Given the description of an element on the screen output the (x, y) to click on. 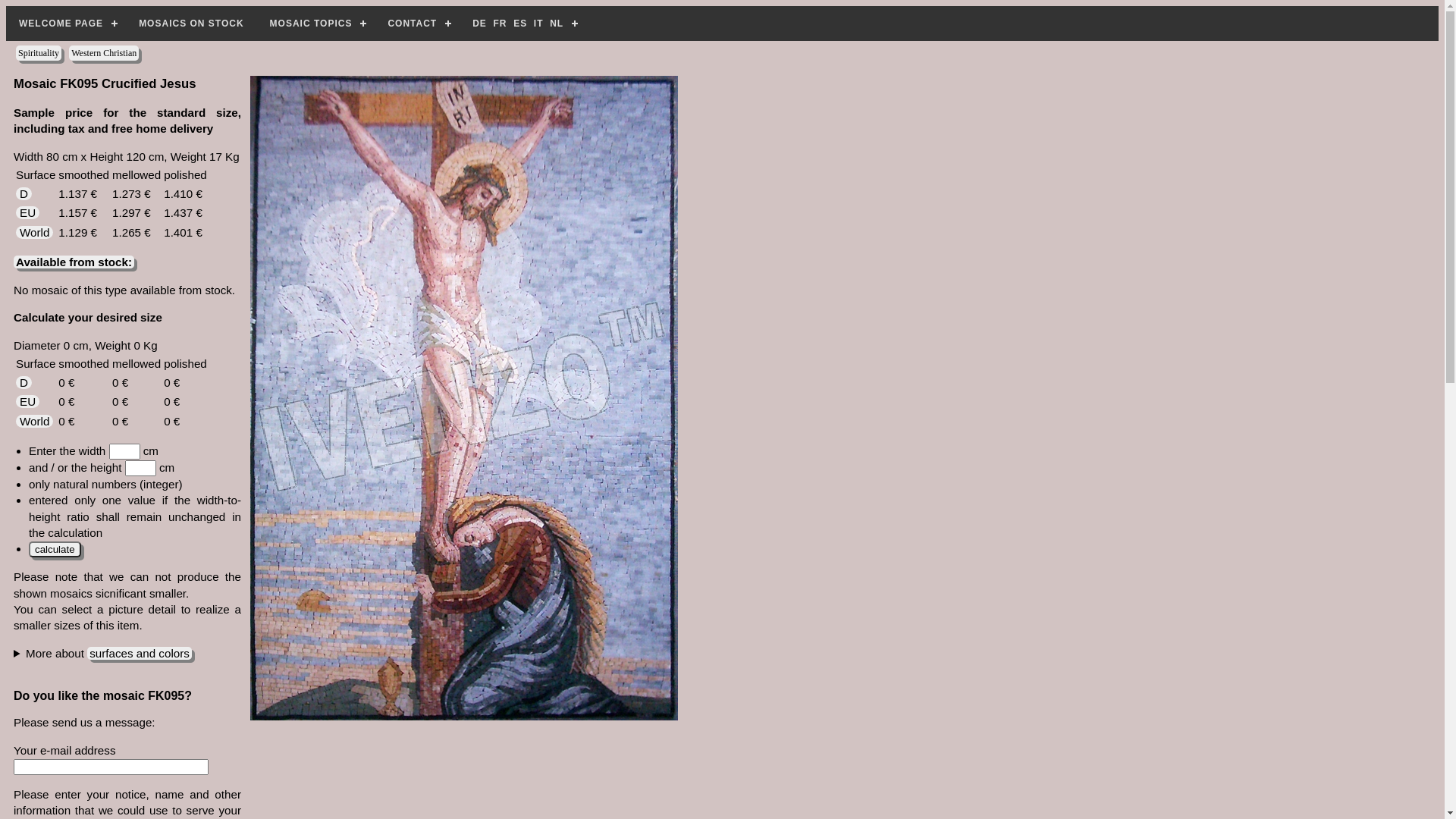
CONTACT Element type: text (416, 23)
MOSAIC TOPICS Element type: text (316, 23)
DE  FR  ES  IT  NL Element type: text (522, 23)
MOSAICS ON STOCK Element type: text (190, 23)
Available from stock: Element type: text (73, 261)
Western Christian Element type: text (103, 52)
Spirituality Element type: text (38, 52)
WELCOME PAGE Element type: text (65, 23)
calculate Element type: text (54, 549)
